Given the description of an element on the screen output the (x, y) to click on. 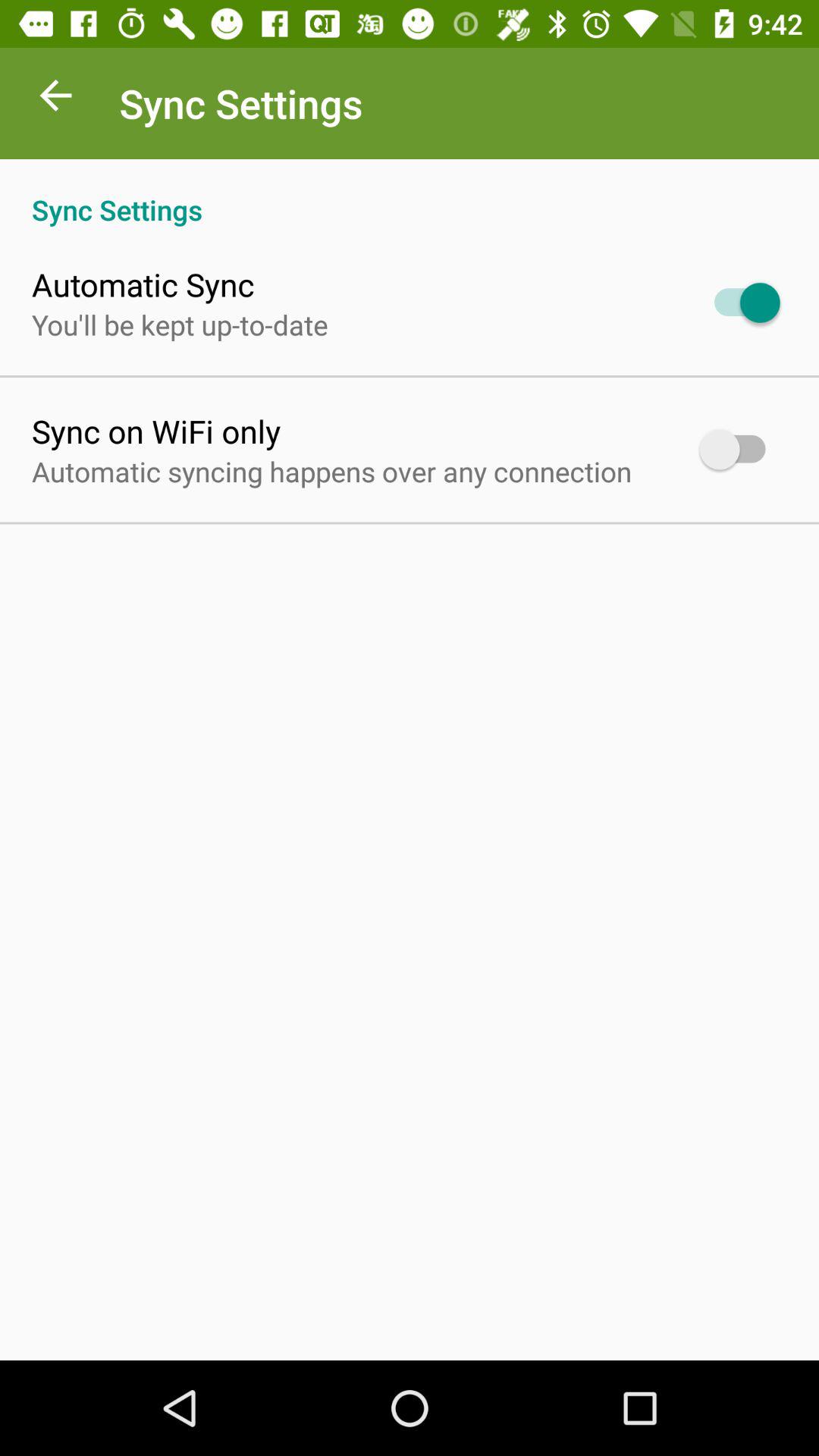
turn on automatic syncing happens icon (331, 471)
